Given the description of an element on the screen output the (x, y) to click on. 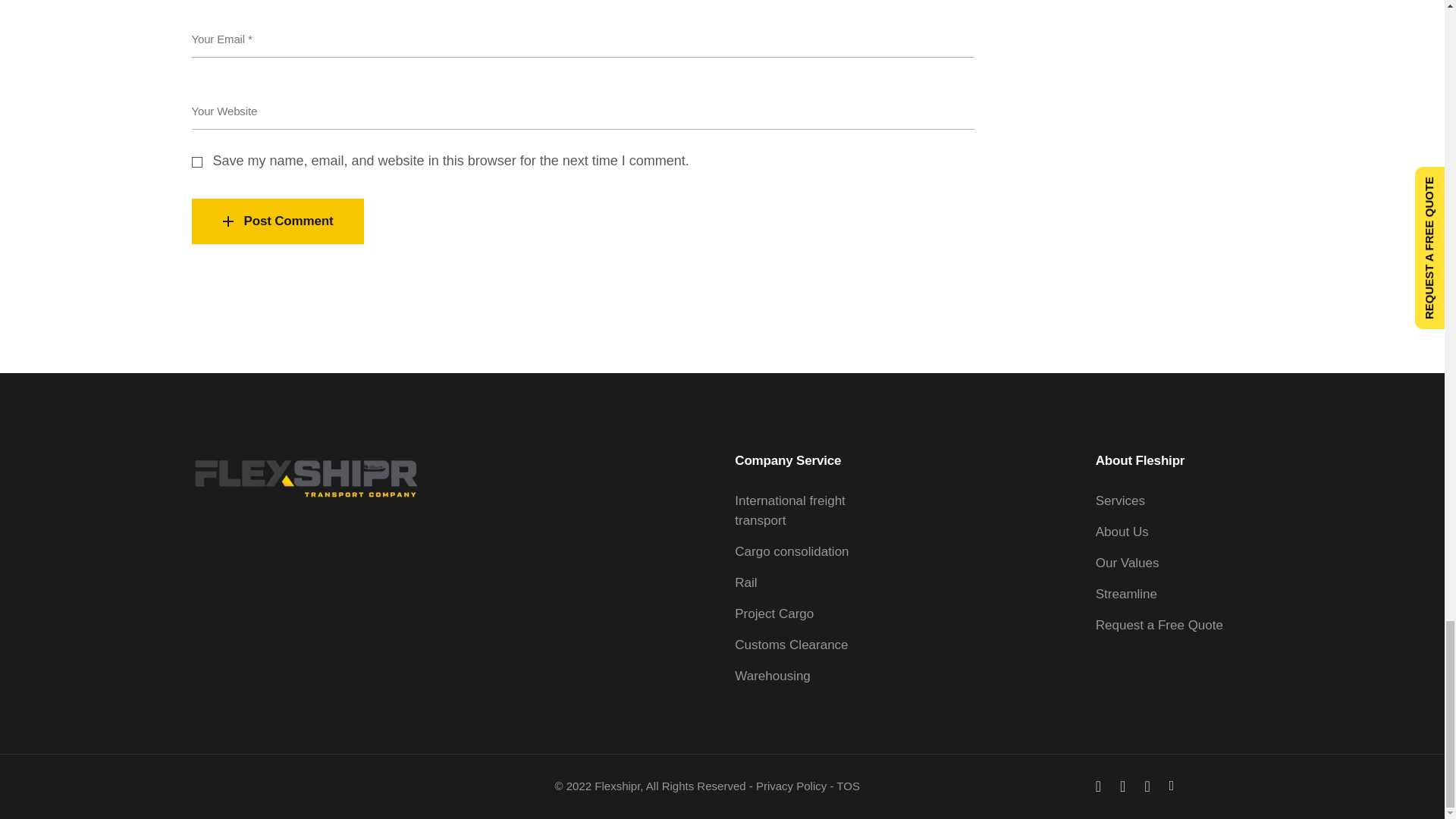
yes (196, 162)
